Given the description of an element on the screen output the (x, y) to click on. 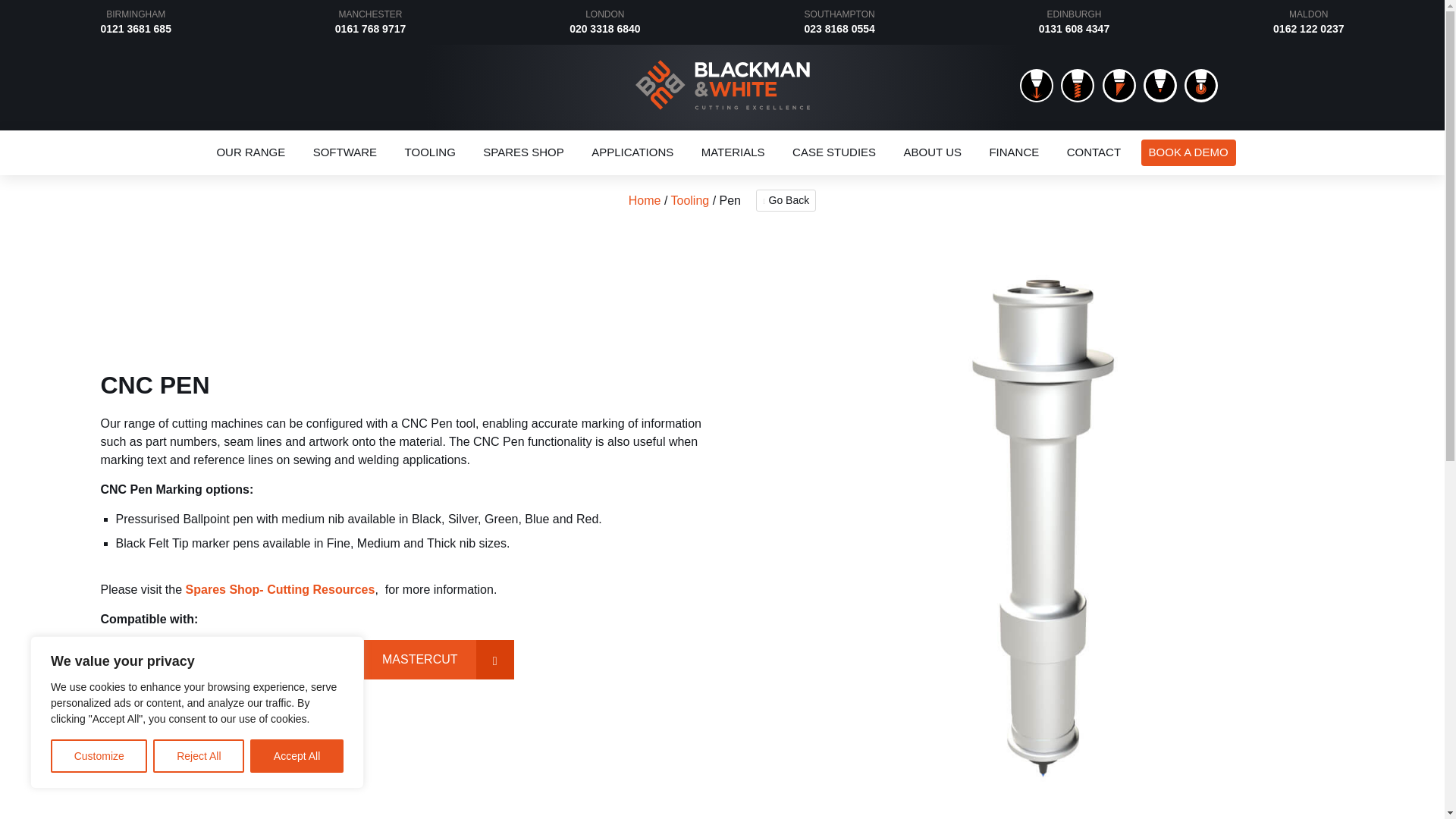
Accept All (296, 756)
Customize (98, 756)
Genesis-V (288, 659)
Reject All (198, 756)
Mastercut (437, 659)
OUR RANGE (250, 152)
Orion (157, 659)
SOFTWARE (344, 152)
TOOLING (430, 152)
Home (721, 105)
